Given the description of an element on the screen output the (x, y) to click on. 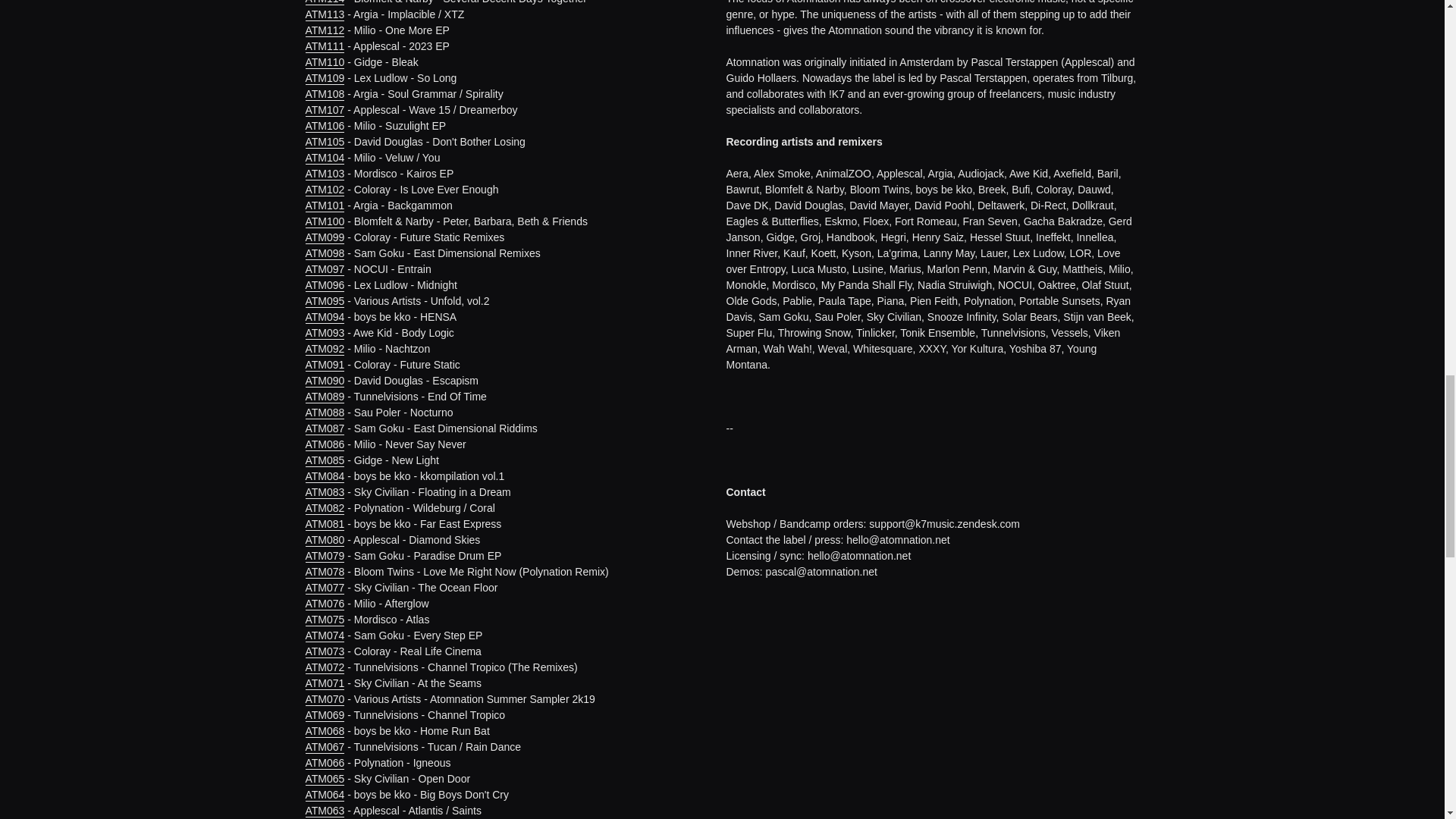
ATM113 (323, 14)
ATM112 (323, 30)
ATM108 (323, 93)
ATM111 (323, 46)
ATM110 (323, 62)
ATM114 (323, 2)
ATM109 (323, 78)
